Given the description of an element on the screen output the (x, y) to click on. 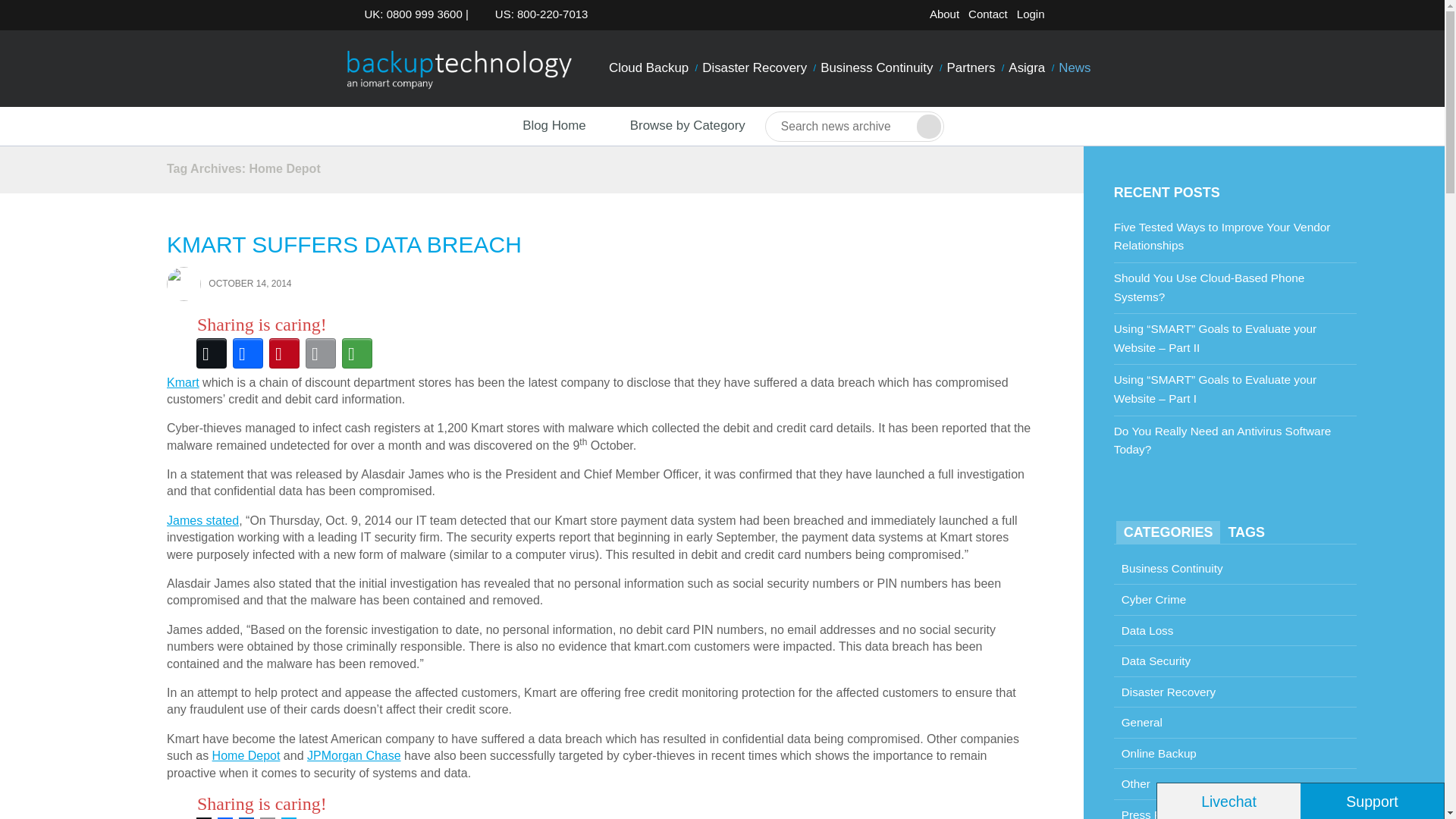
Asigra (1026, 68)
twitter (1064, 17)
Email This (320, 352)
US: 800-220-7013 (536, 14)
Facebook (248, 352)
PrintFriendly (288, 816)
Cloud Backup (648, 68)
Facebook (224, 816)
Disaster Recovery (754, 68)
Login (1030, 14)
Pinterest (284, 352)
View all posts by Sam Richardson. (183, 282)
Partners (971, 68)
Facebook (1088, 17)
Browse by Category (675, 126)
